Given the description of an element on the screen output the (x, y) to click on. 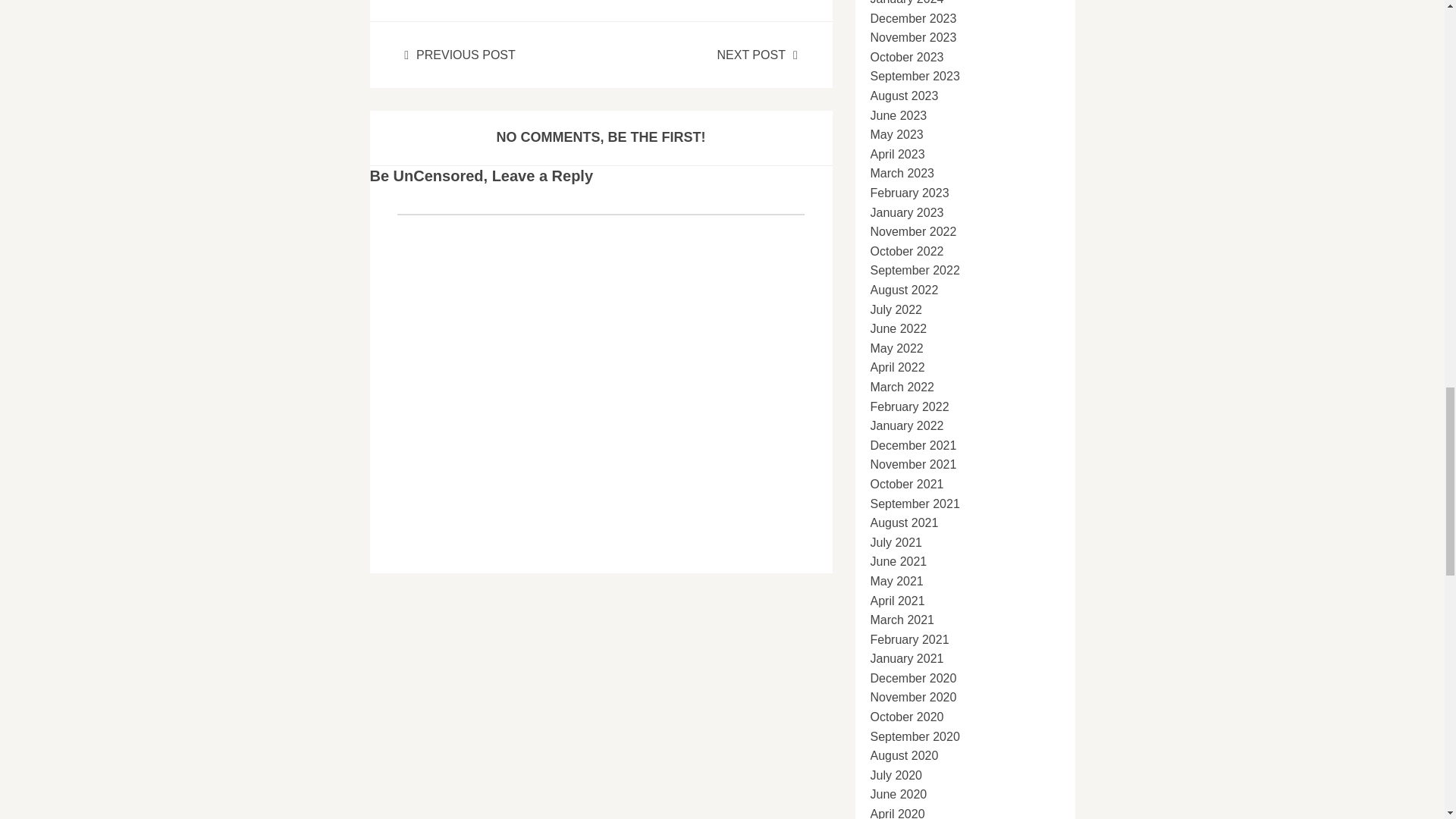
PREVIOUS POST (459, 54)
Comment Form (601, 376)
NEXT POST (757, 54)
